Given the description of an element on the screen output the (x, y) to click on. 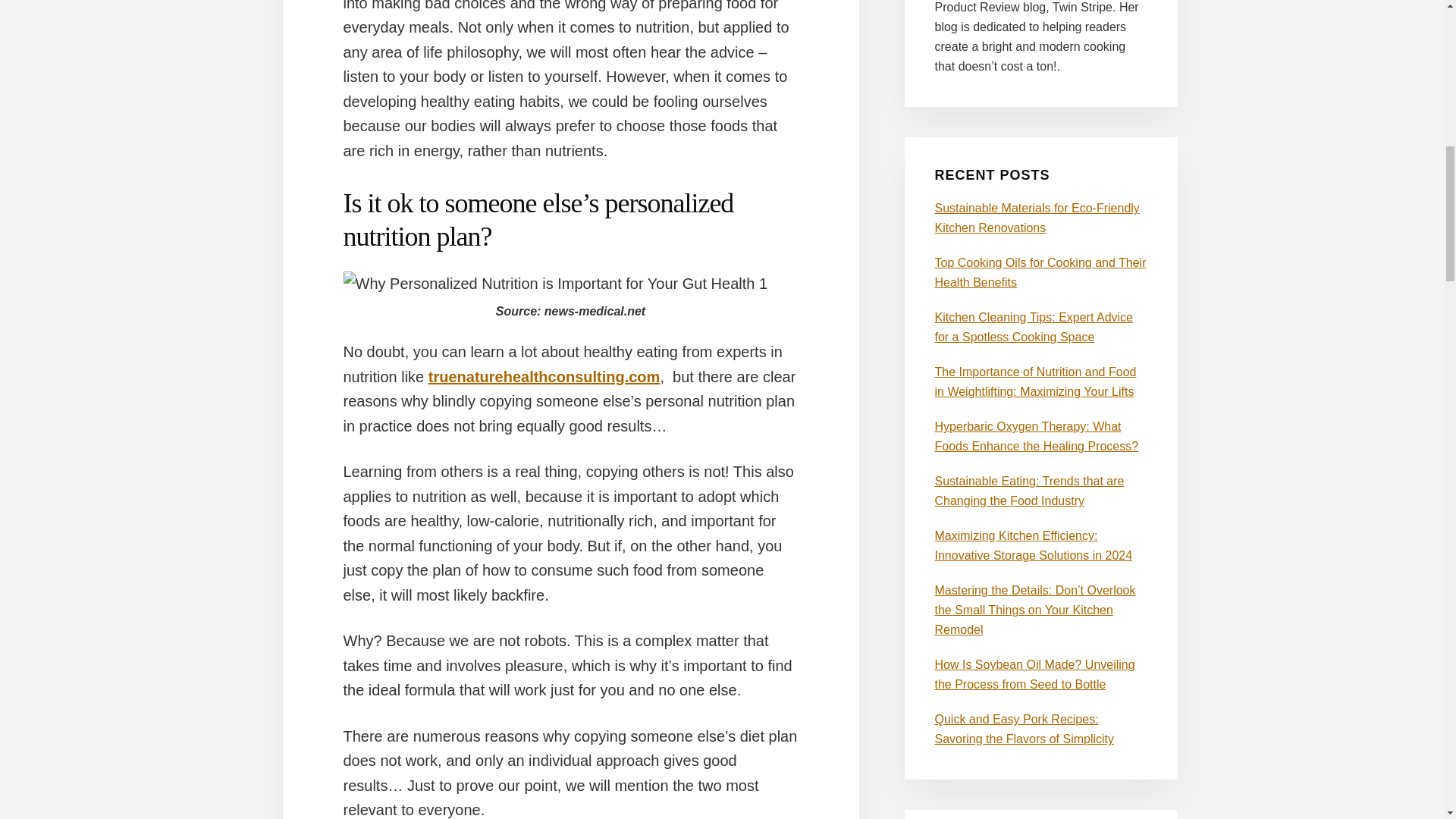
Top Cooking Oils for Cooking and Their Health Benefits (1039, 272)
truenaturehealthconsulting.com (544, 376)
Sustainable Materials for Eco-Friendly Kitchen Renovations (1036, 217)
